Given the description of an element on the screen output the (x, y) to click on. 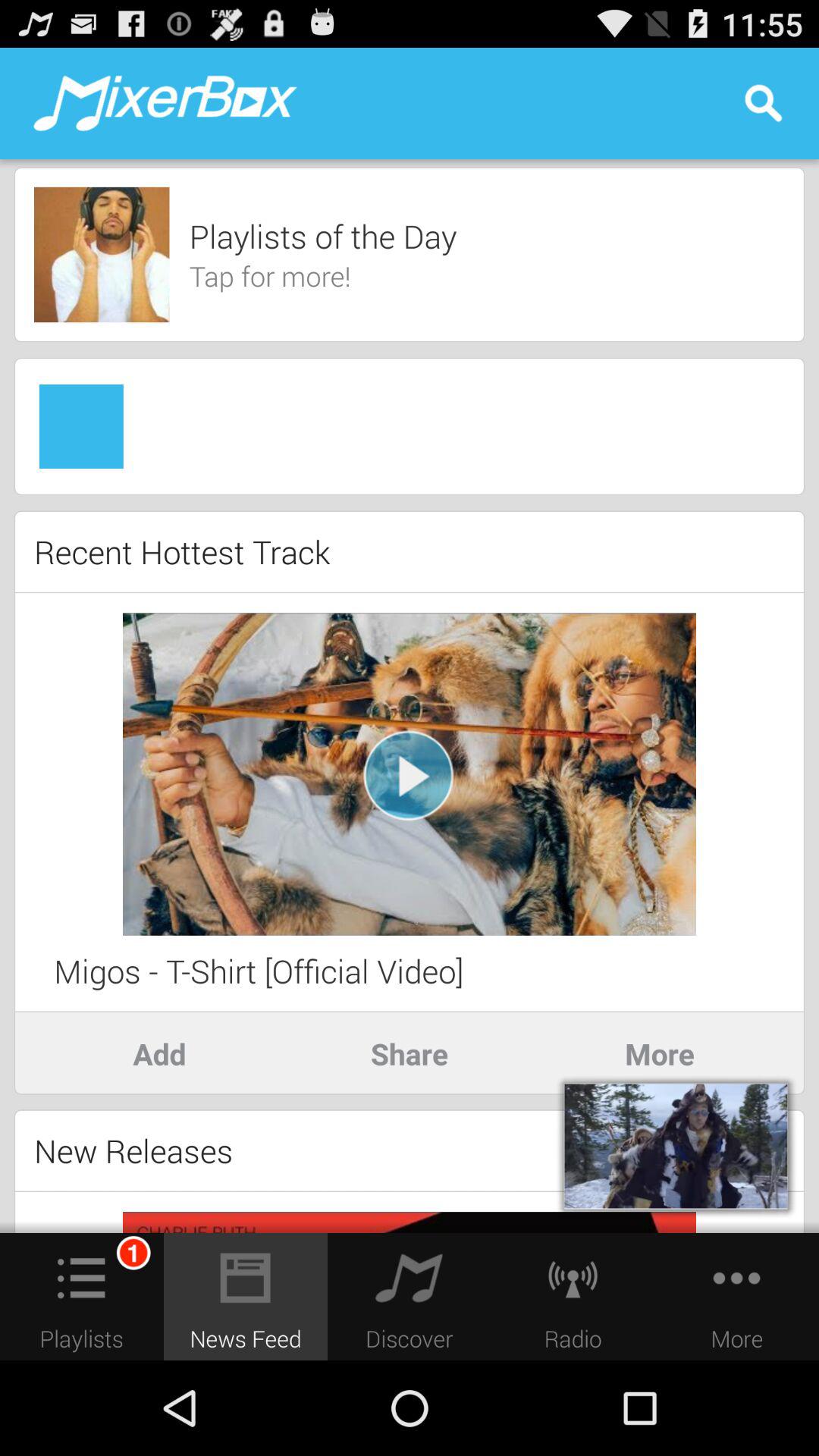
launch the icon below add app (133, 1150)
